Given the description of an element on the screen output the (x, y) to click on. 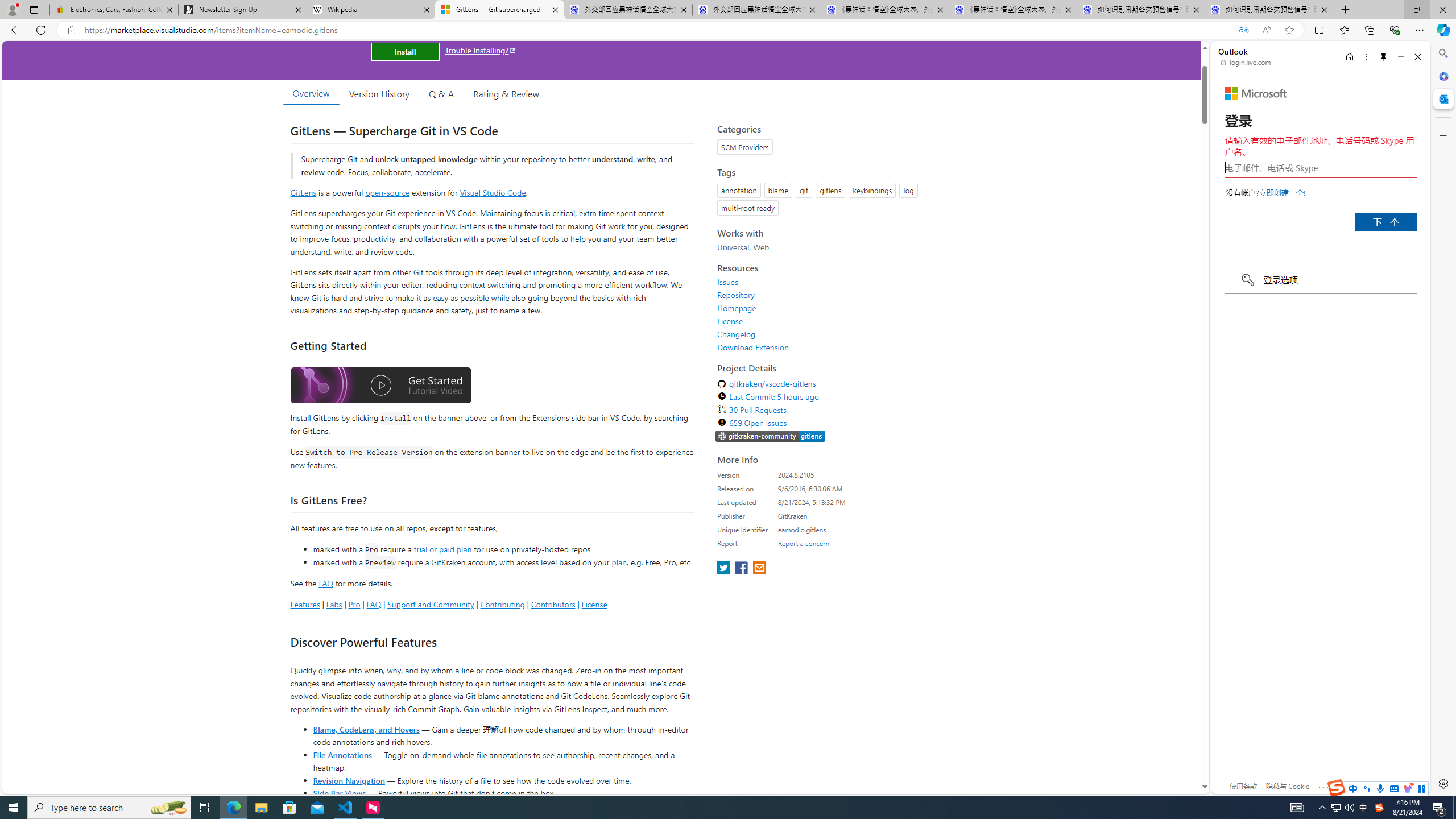
Microsoft (1255, 93)
FAQ (373, 603)
